Given the description of an element on the screen output the (x, y) to click on. 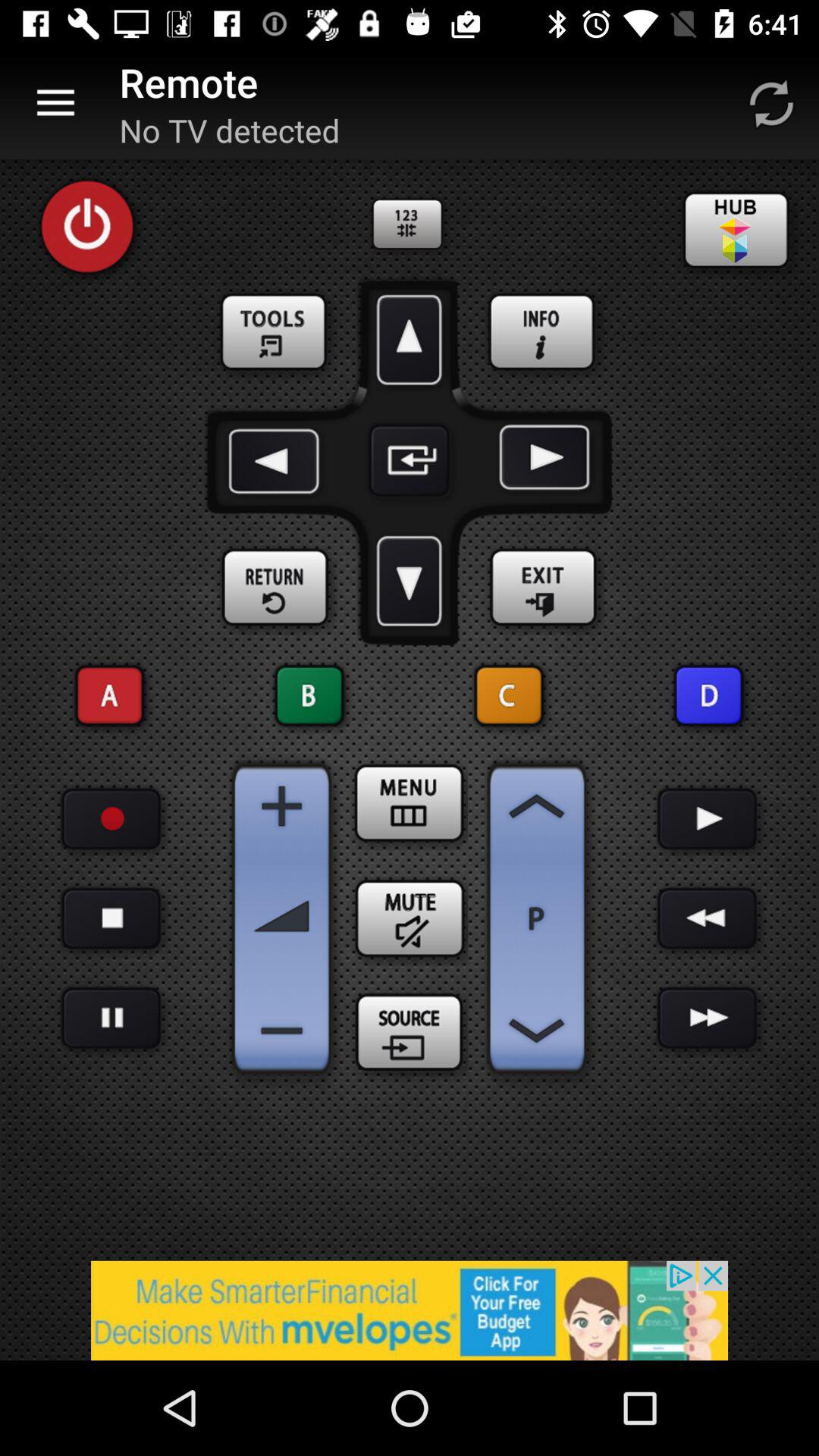
go to power off botton (87, 226)
